Given the description of an element on the screen output the (x, y) to click on. 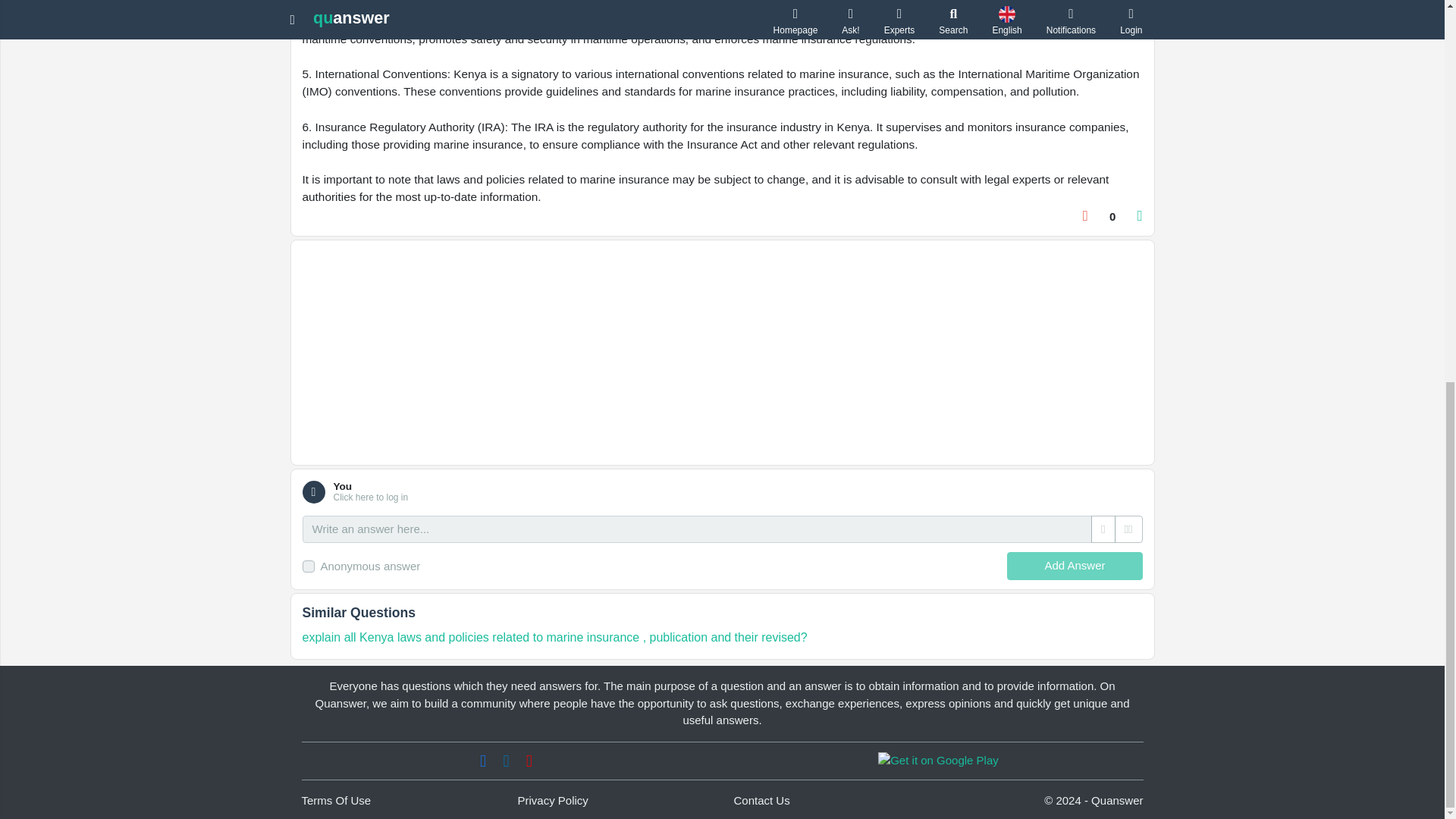
Click here to log in (371, 497)
Add Answer (1074, 565)
